Given the description of an element on the screen output the (x, y) to click on. 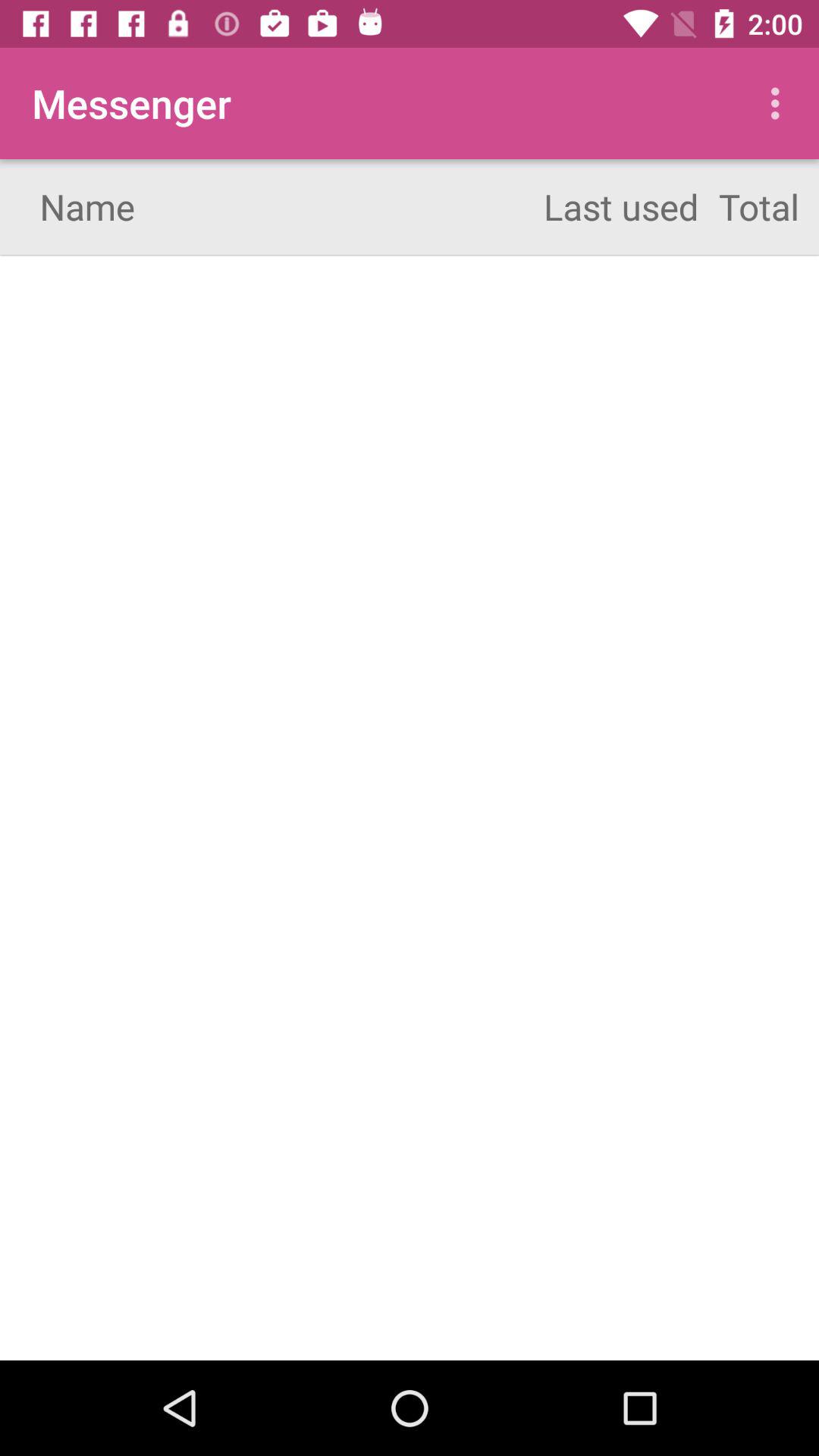
turn on the icon above total (779, 103)
